Given the description of an element on the screen output the (x, y) to click on. 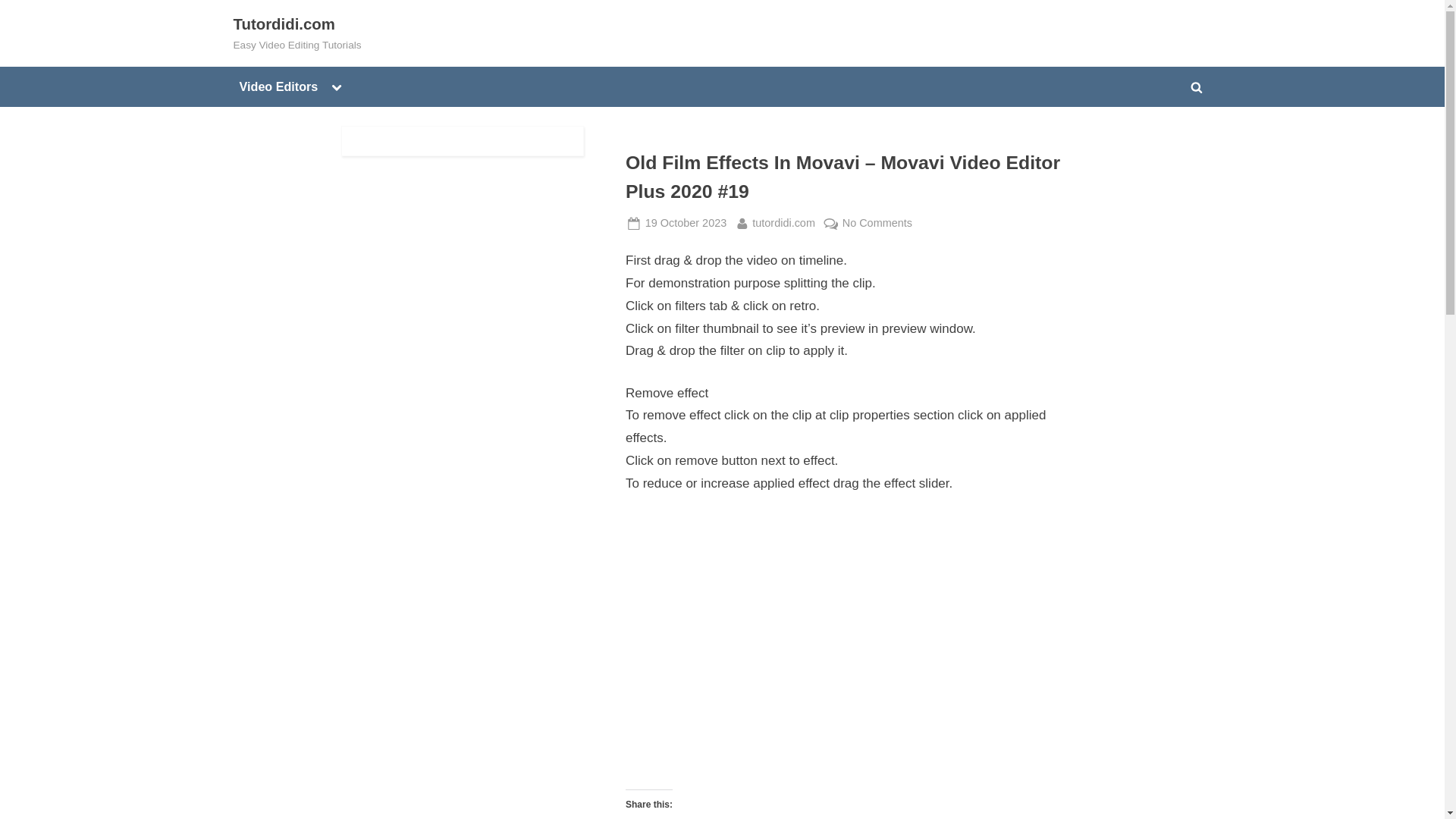
Video Editors (278, 86)
Toggle sub-menu (335, 86)
Tutordidi.com (783, 222)
Toggle search form (685, 222)
